Given the description of an element on the screen output the (x, y) to click on. 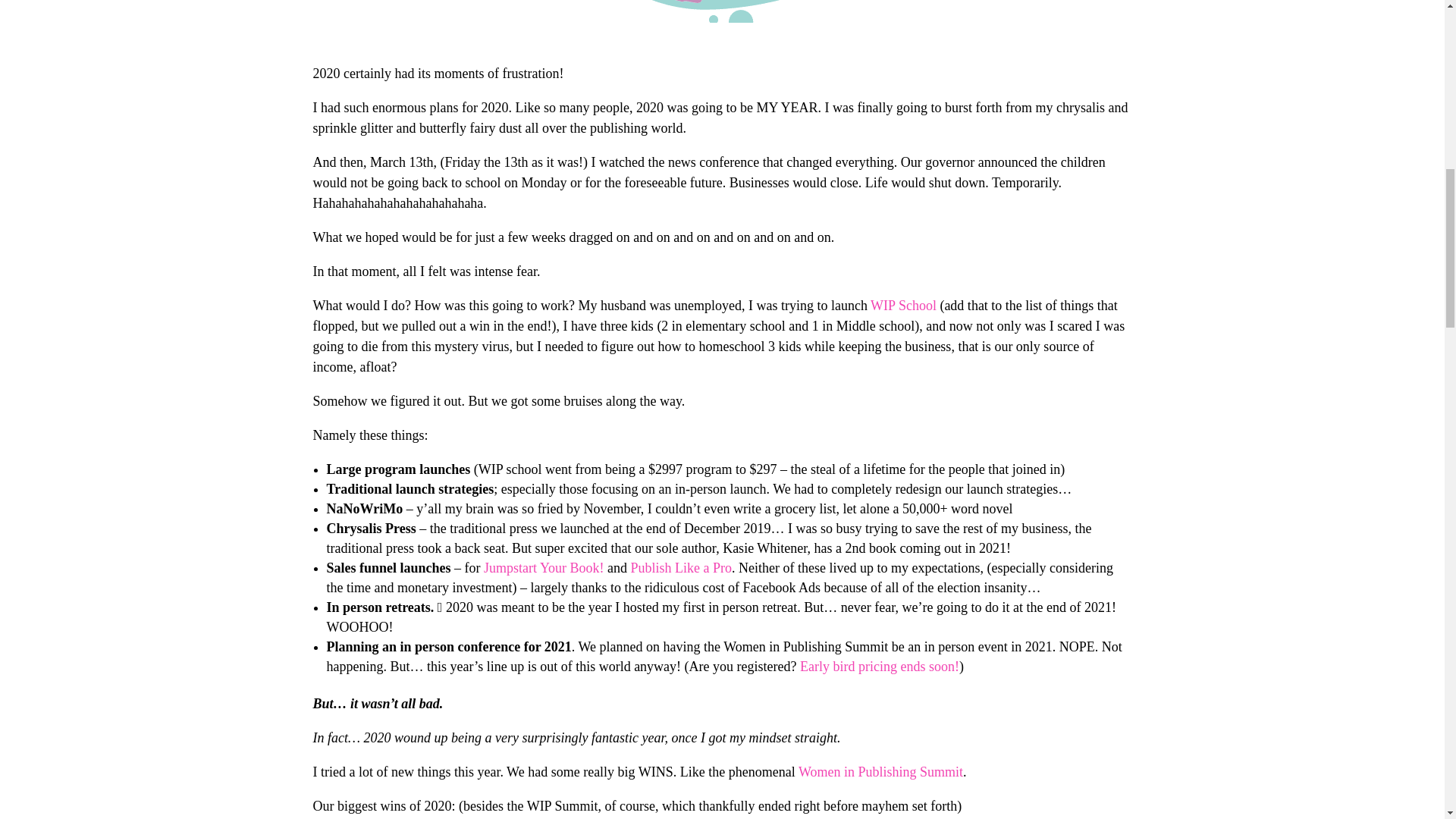
2020 in review blog (721, 11)
